Given the description of an element on the screen output the (x, y) to click on. 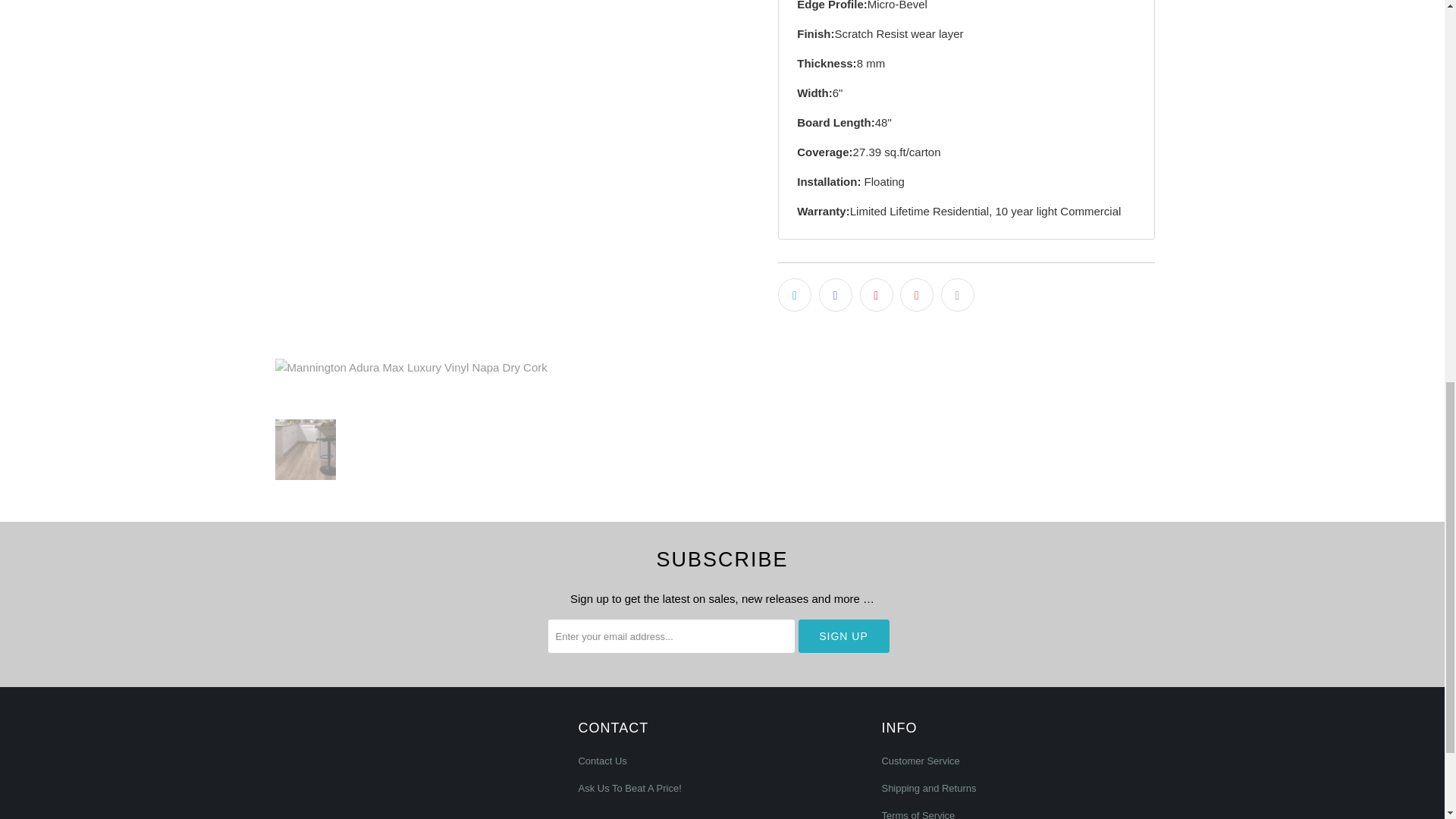
Email this to a friend (957, 295)
Share this on Twitter (793, 295)
Share this on Facebook (834, 295)
Share this on Pinterest (876, 295)
Sign Up (842, 635)
